Given the description of an element on the screen output the (x, y) to click on. 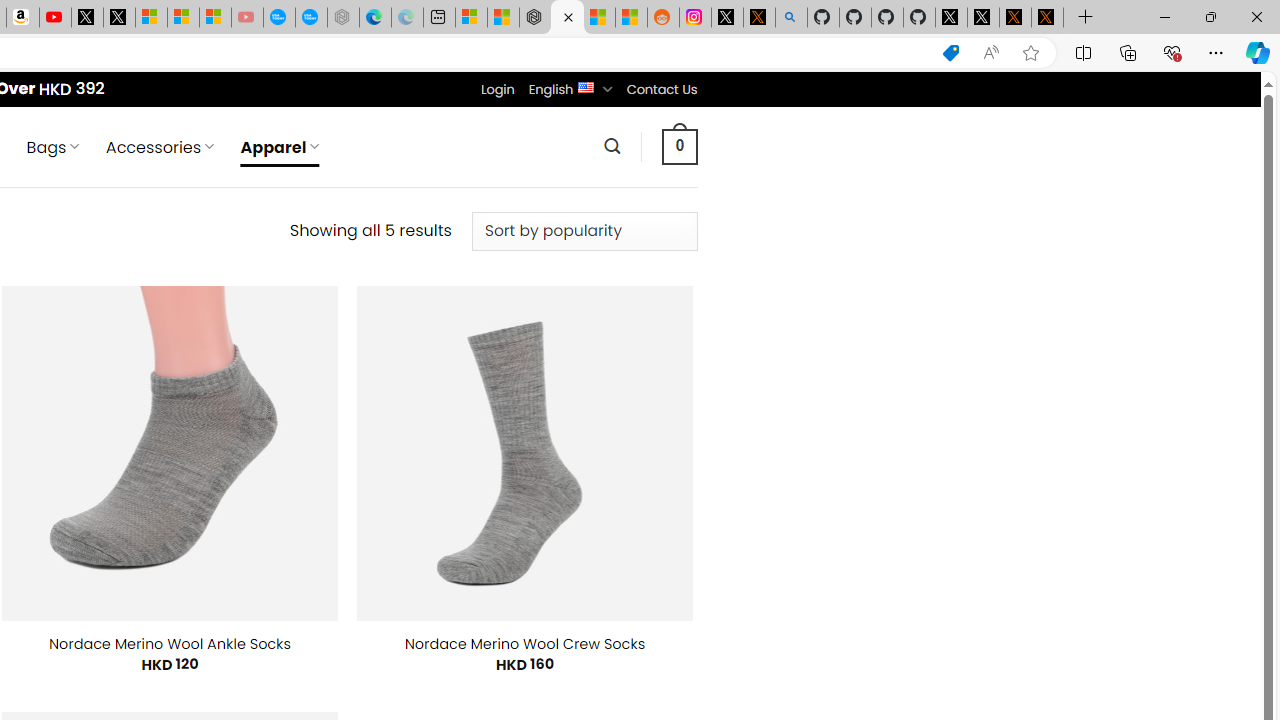
Log in to X / X (727, 17)
English (586, 86)
X Privacy Policy (1047, 17)
The most popular Google 'how to' searches (310, 17)
Nordace - Nordace has arrived Hong Kong - Sleeping (343, 17)
Shanghai, China Weather trends | Microsoft Weather (630, 17)
Nordace Merino Wool Ankle Socks (169, 643)
